Given the description of an element on the screen output the (x, y) to click on. 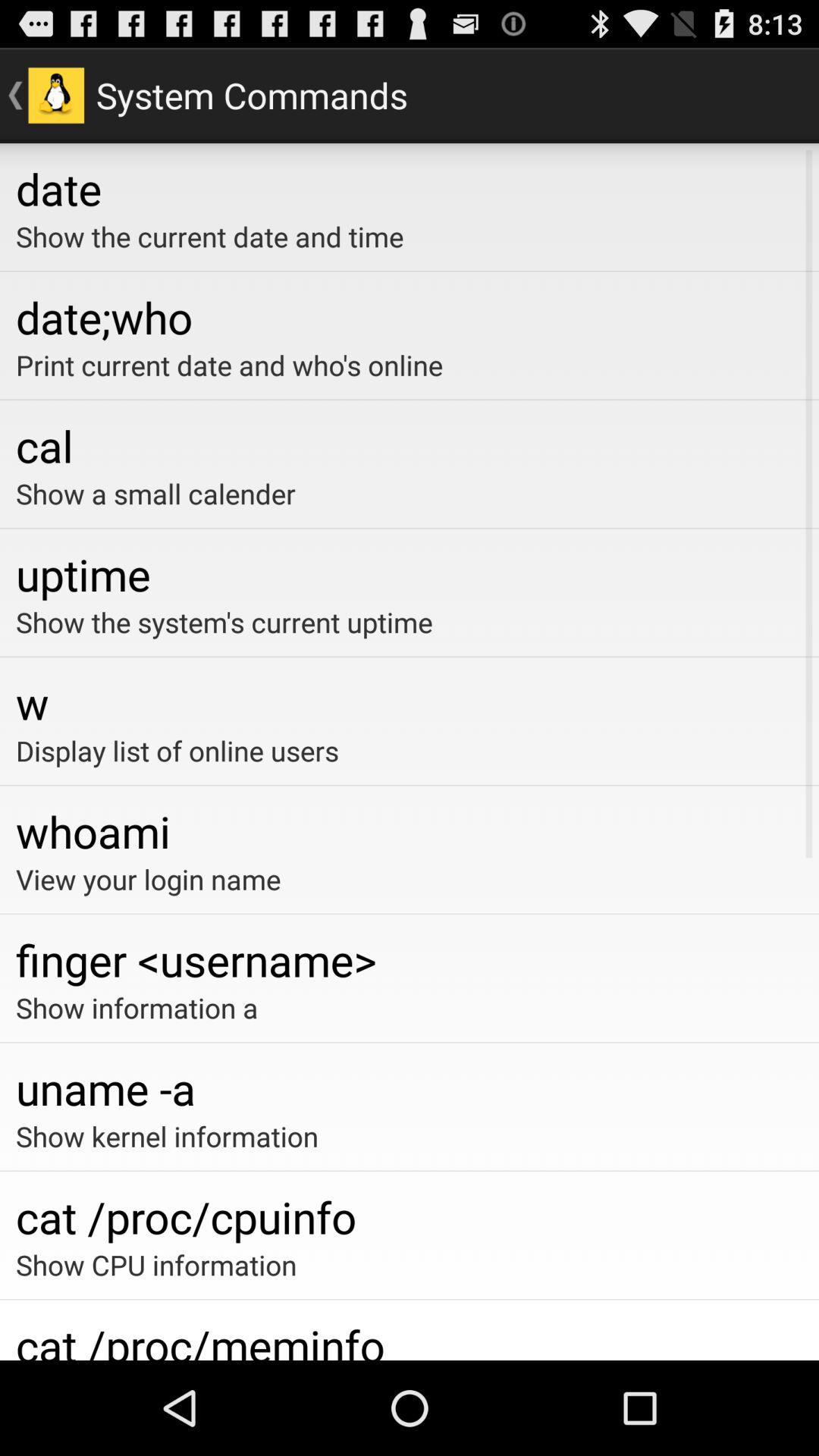
turn on app below whoami (409, 879)
